Given the description of an element on the screen output the (x, y) to click on. 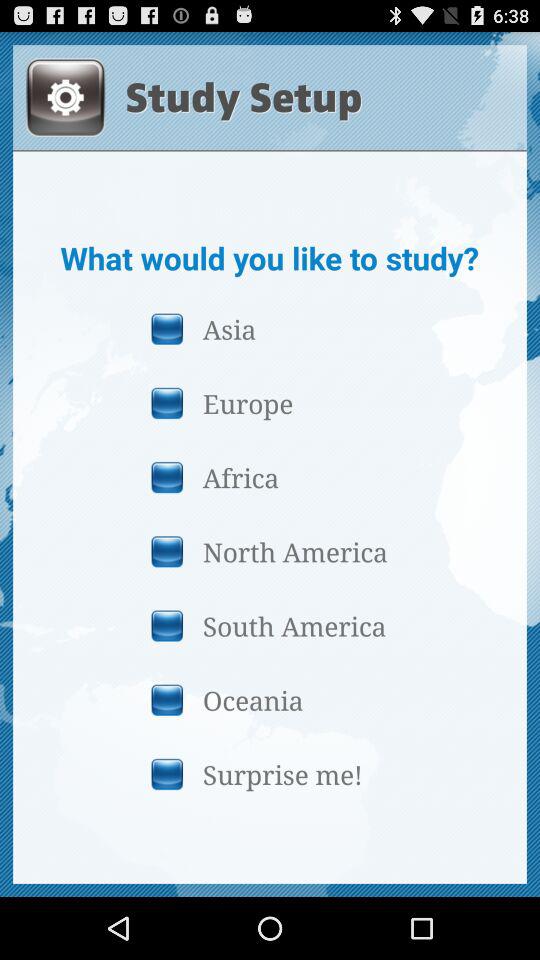
click item below the oceania button (269, 774)
